Given the description of an element on the screen output the (x, y) to click on. 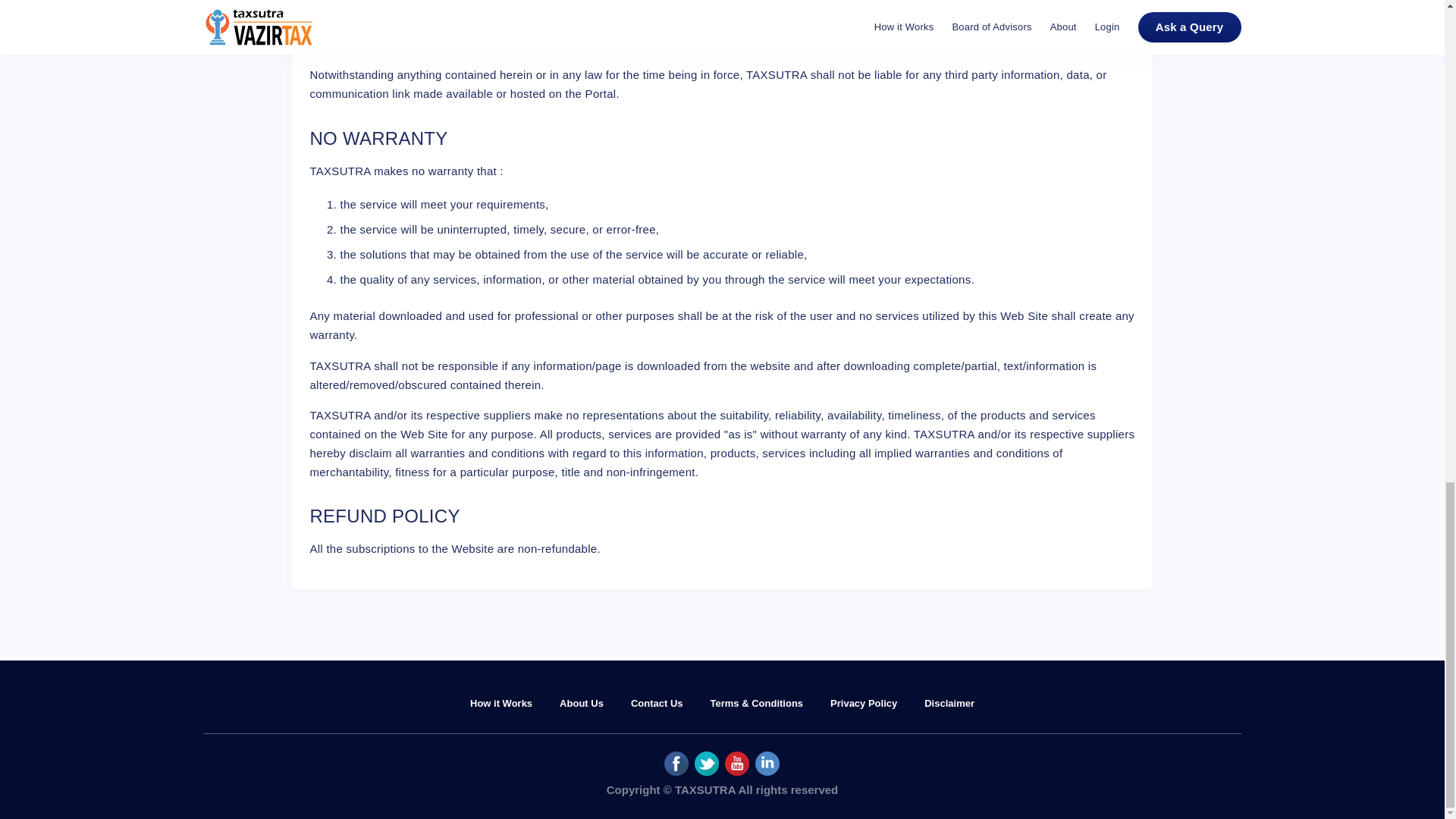
Privacy Policy (862, 703)
Contact Us (656, 703)
About Us (581, 703)
How it Works (501, 703)
Disclaimer (949, 703)
